Given the description of an element on the screen output the (x, y) to click on. 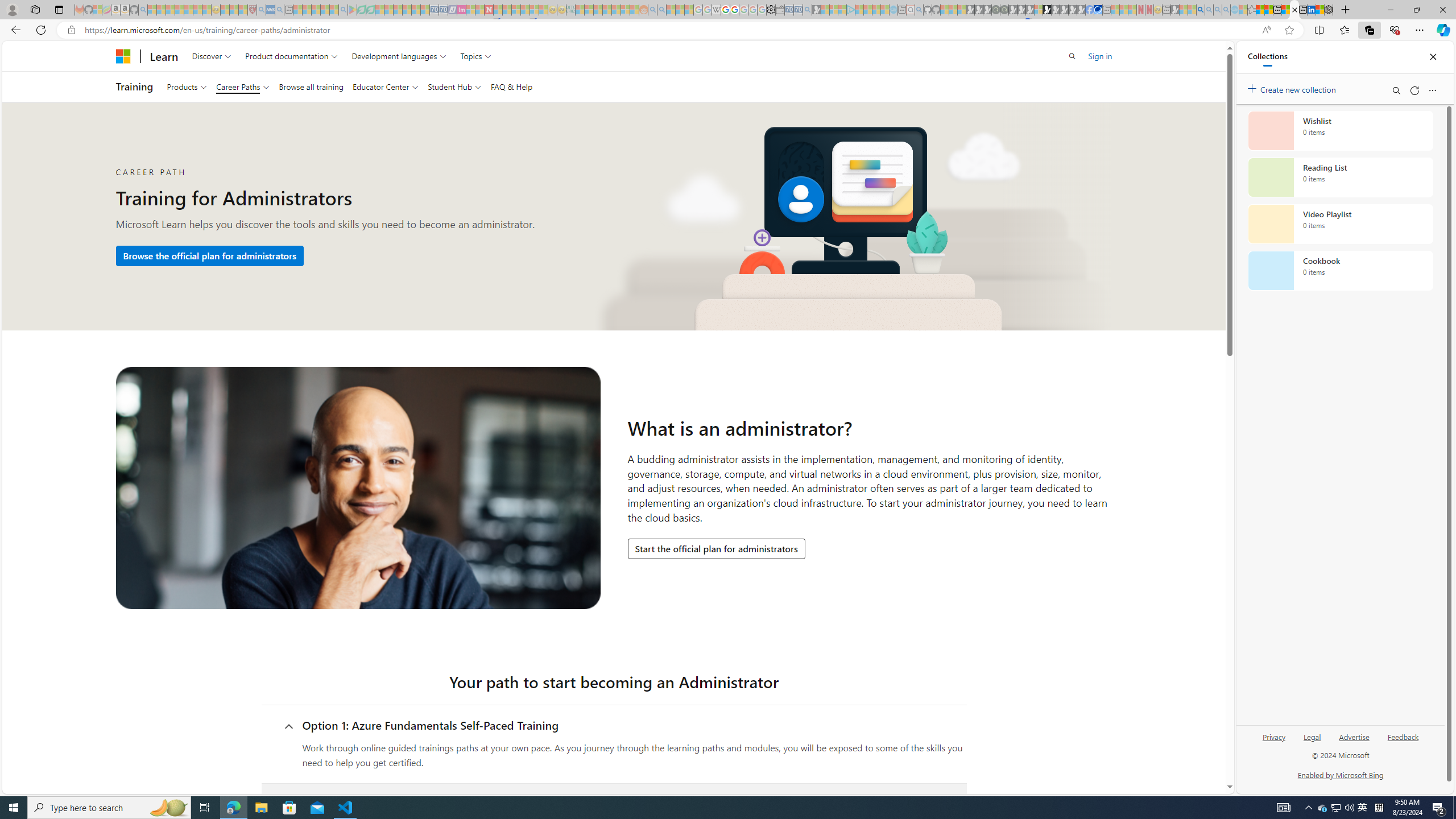
Browse all training (310, 86)
Image of a person who works as an administrator (357, 487)
Topics (475, 55)
Bing AI - Search (1200, 9)
Educator Center (385, 86)
Educator Center (385, 86)
